Given the description of an element on the screen output the (x, y) to click on. 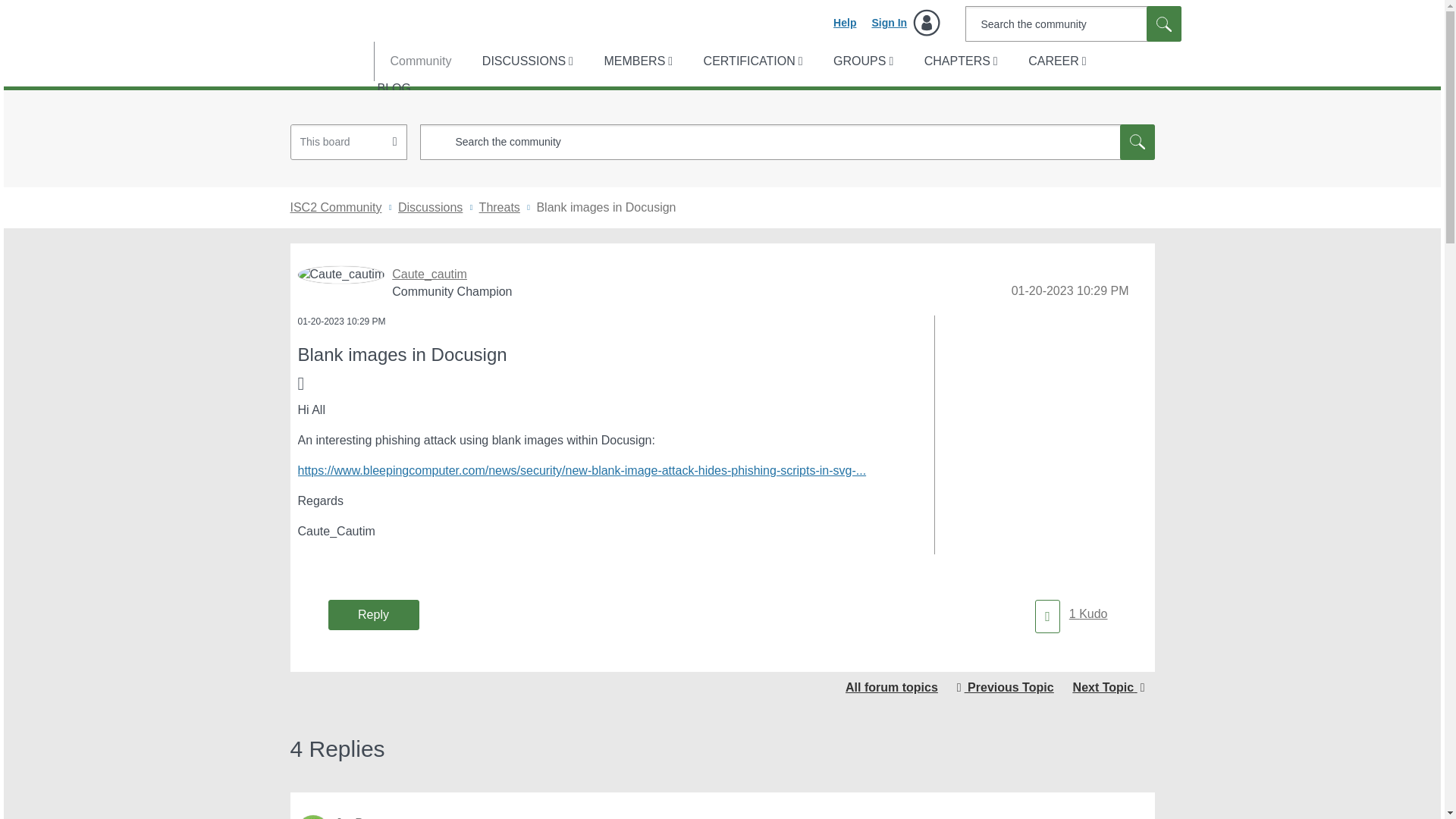
CERTIFICATION (751, 61)
MEMBERS (635, 61)
Search (1136, 141)
Sign In (906, 22)
Search (1163, 23)
Search (1136, 141)
Search (1163, 23)
DISCUSSIONS (526, 61)
Search (1071, 23)
Search (1163, 23)
